Given the description of an element on the screen output the (x, y) to click on. 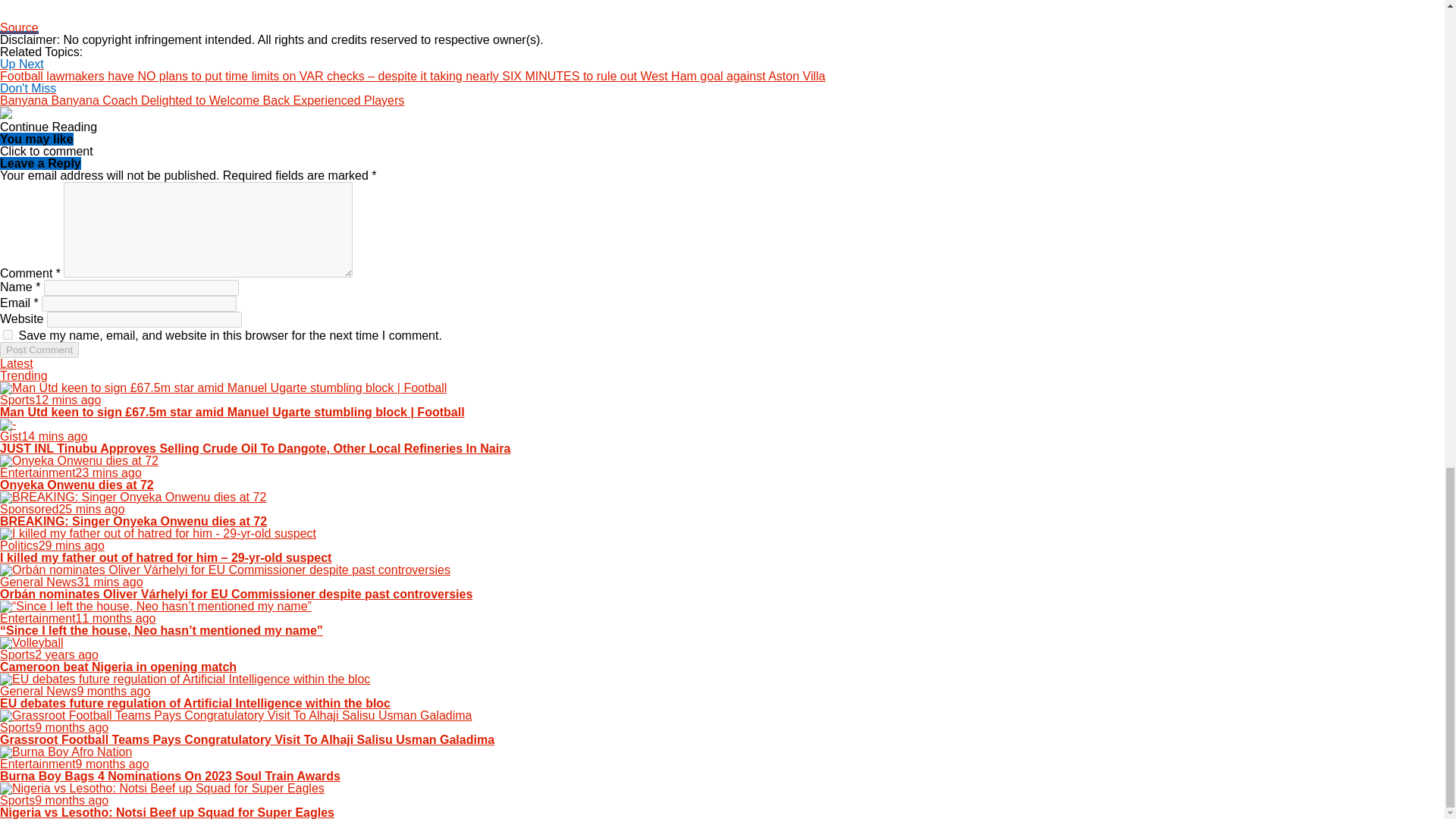
Post Comment (39, 349)
yes (7, 334)
